Given the description of an element on the screen output the (x, y) to click on. 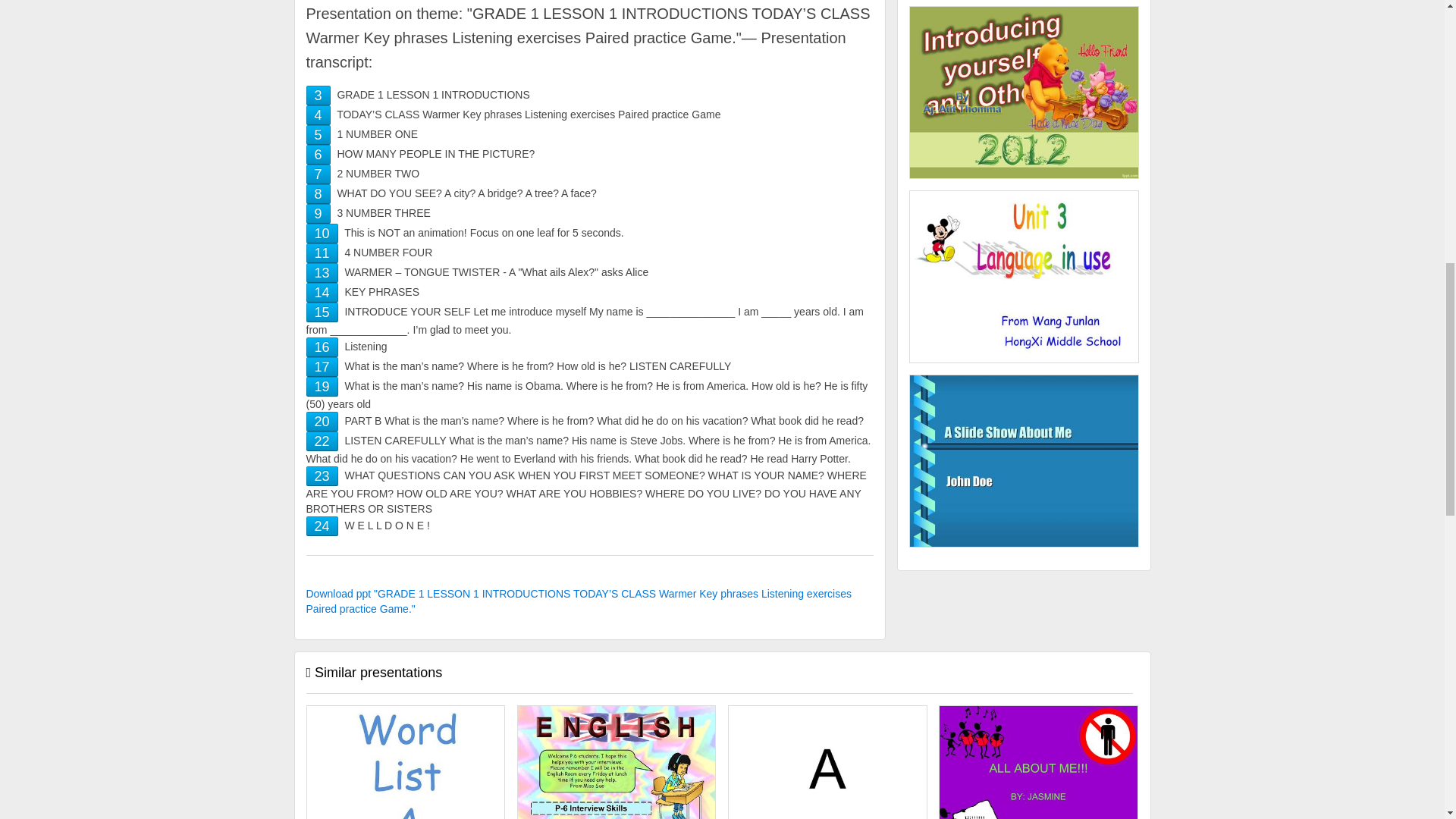
4 NUMBER FOUR (321, 253)
Listening (321, 346)
This is NOT an animation! Focus on one leaf for 5 seconds. (321, 233)
KEY PHRASES (321, 292)
